Given the description of an element on the screen output the (x, y) to click on. 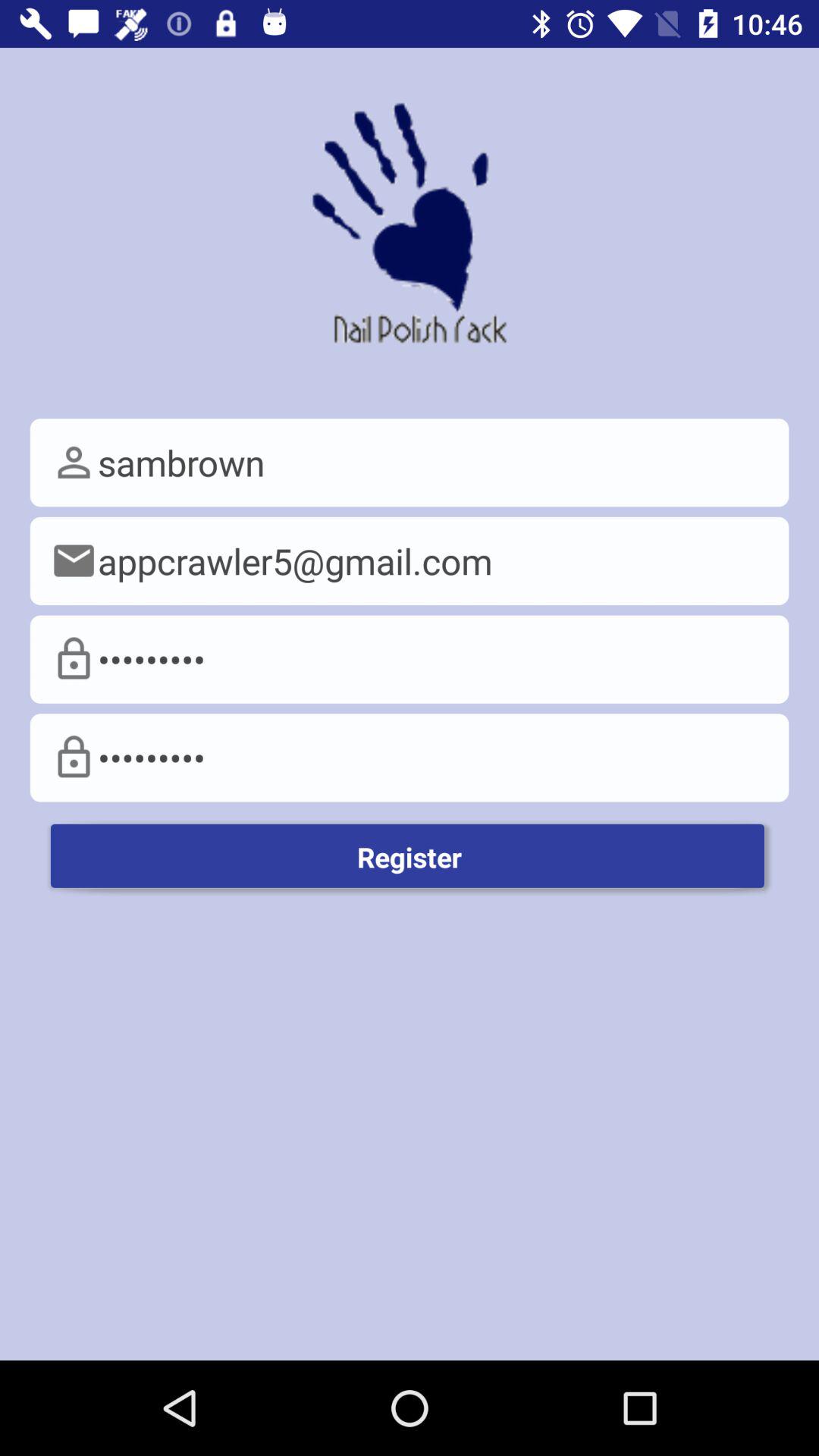
launch the item above the crowd3116 (409, 560)
